Given the description of an element on the screen output the (x, y) to click on. 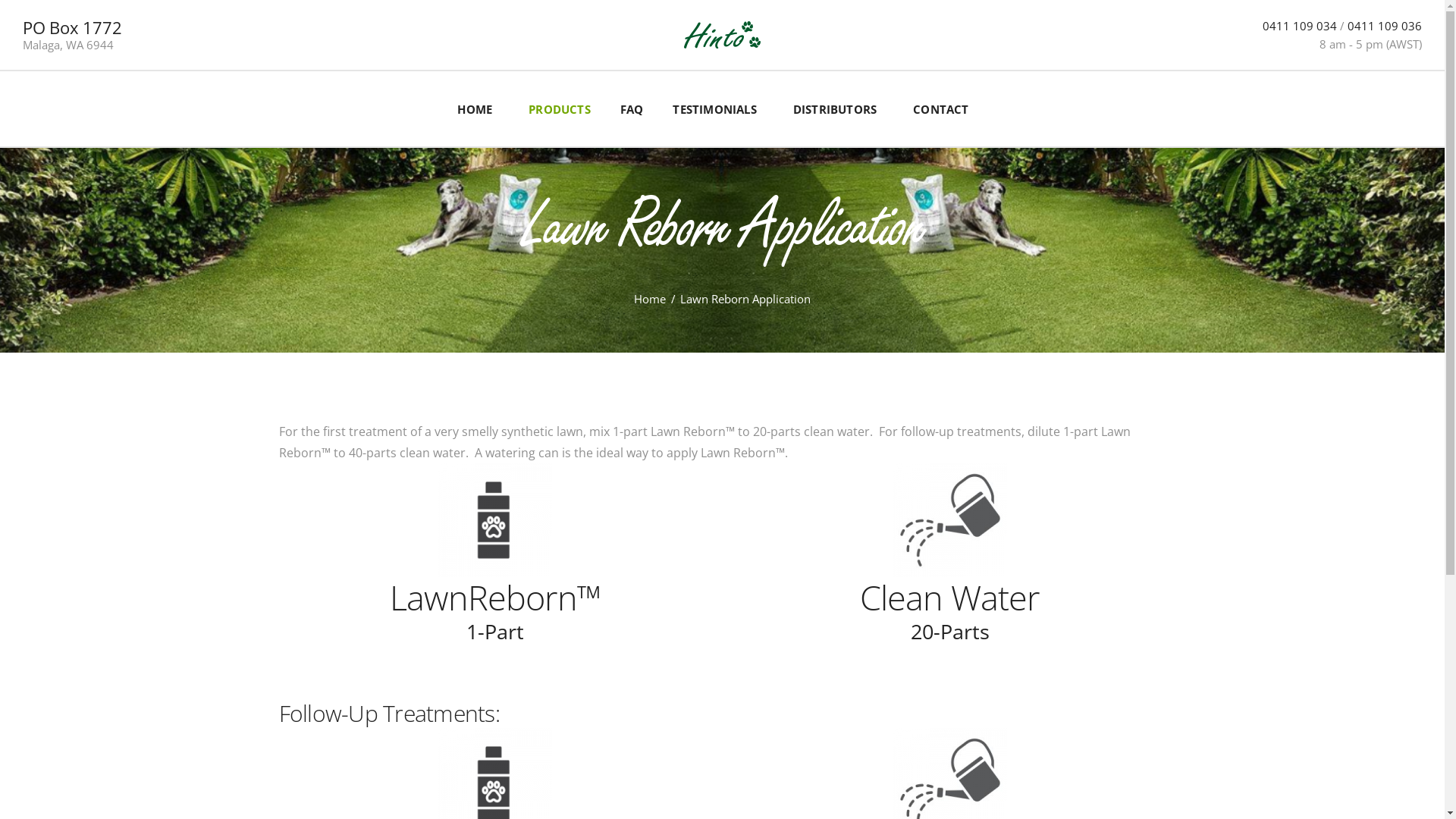
DISTRIBUTORS Element type: text (834, 108)
0411 109 036 Element type: text (1384, 25)
0411 109 034 Element type: text (1299, 25)
watering-can-icon Element type: hover (950, 520)
HOME Element type: text (483, 108)
Home Element type: text (649, 299)
CONTACT Element type: text (940, 108)
hinto-lawnrebornbottle-icon Element type: hover (495, 520)
PRODUCTS Element type: text (556, 108)
FAQ Element type: text (628, 108)
TESTIMONIALS Element type: text (714, 108)
